Given the description of an element on the screen output the (x, y) to click on. 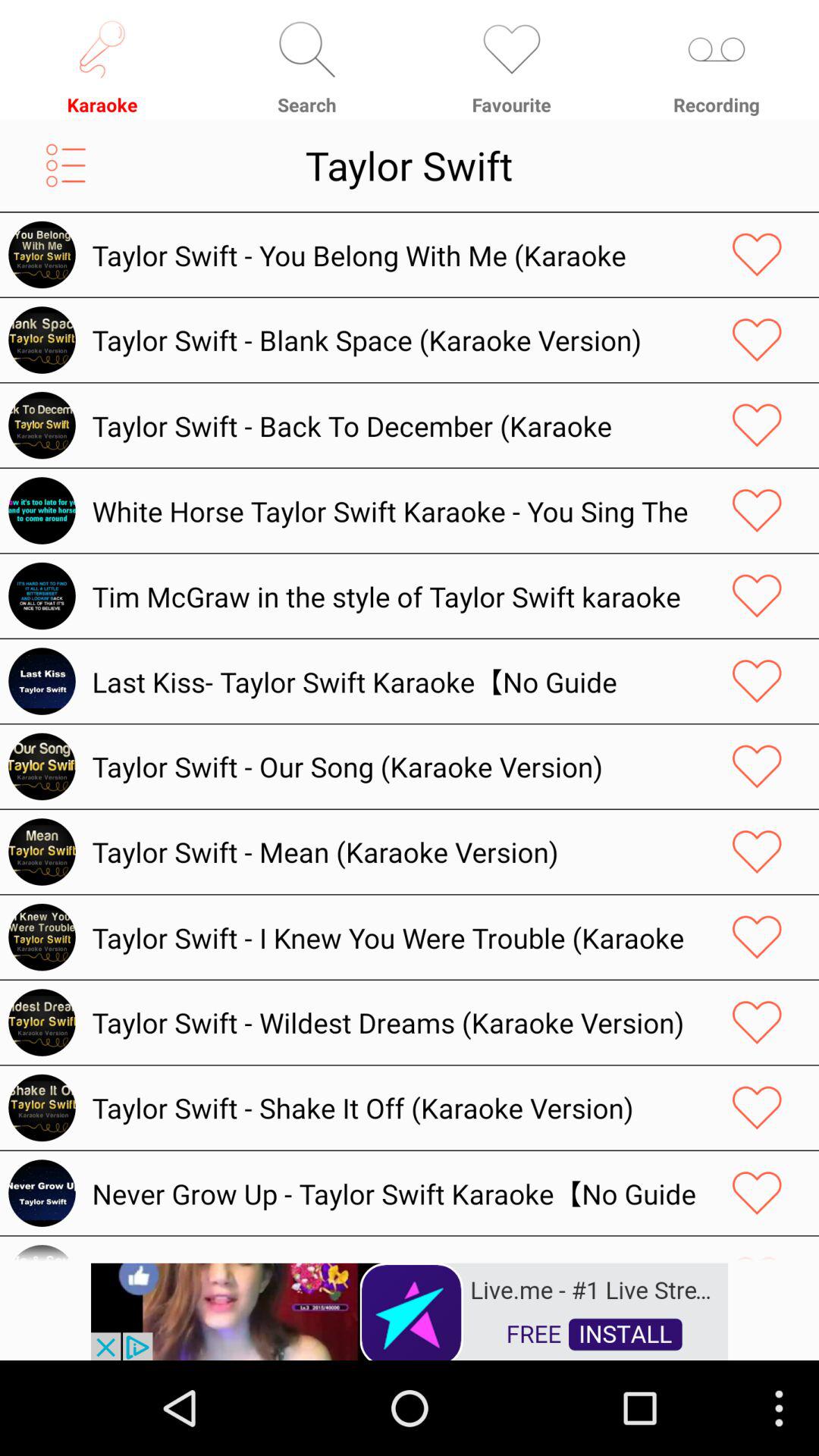
like the page (756, 1107)
